Given the description of an element on the screen output the (x, y) to click on. 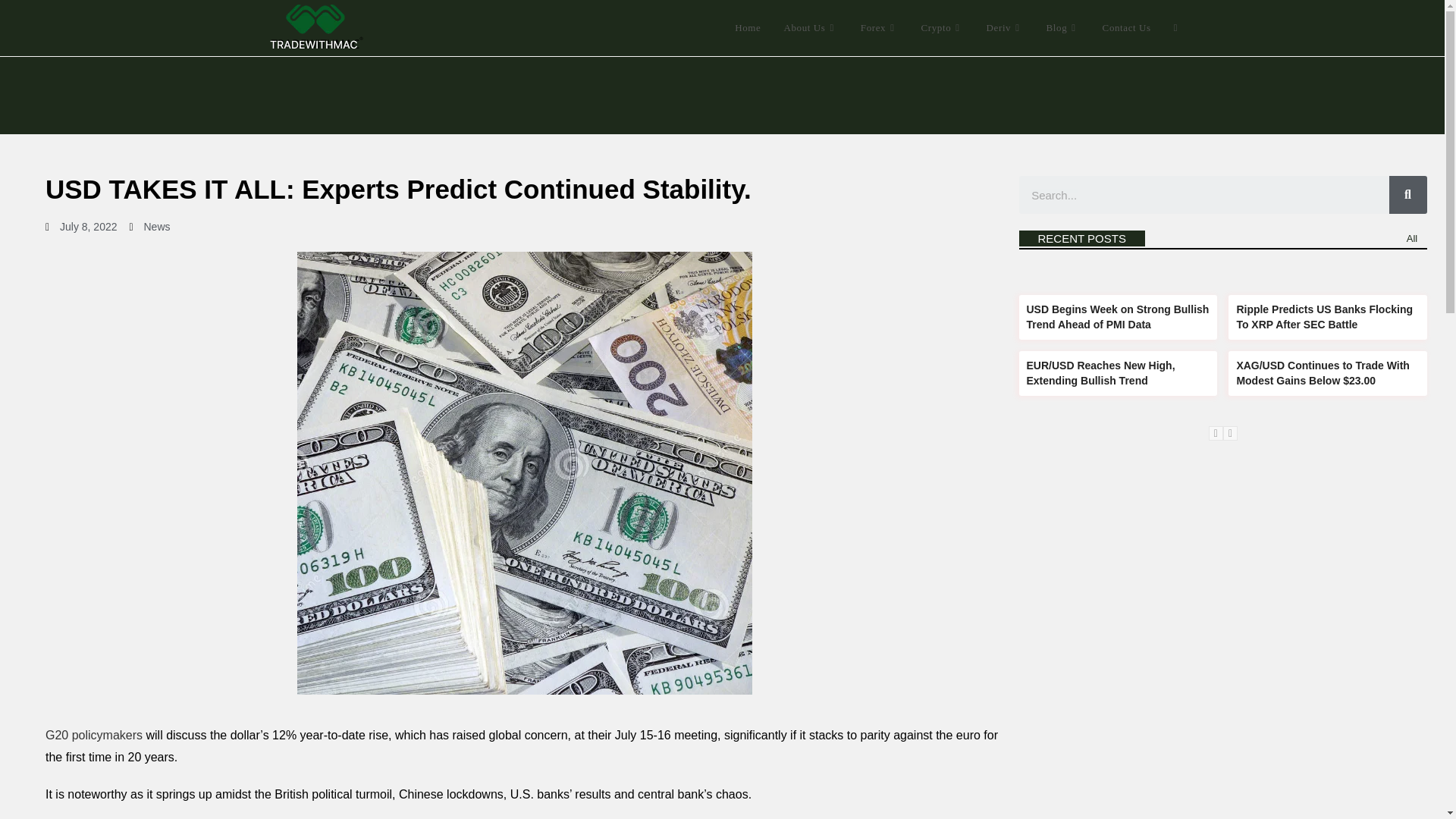
Forex (879, 28)
Crypto (942, 28)
Search (1407, 194)
Search (1204, 194)
Blog (1062, 28)
Contact Us (1125, 28)
Deriv (1005, 28)
About Us (809, 28)
